Given the description of an element on the screen output the (x, y) to click on. 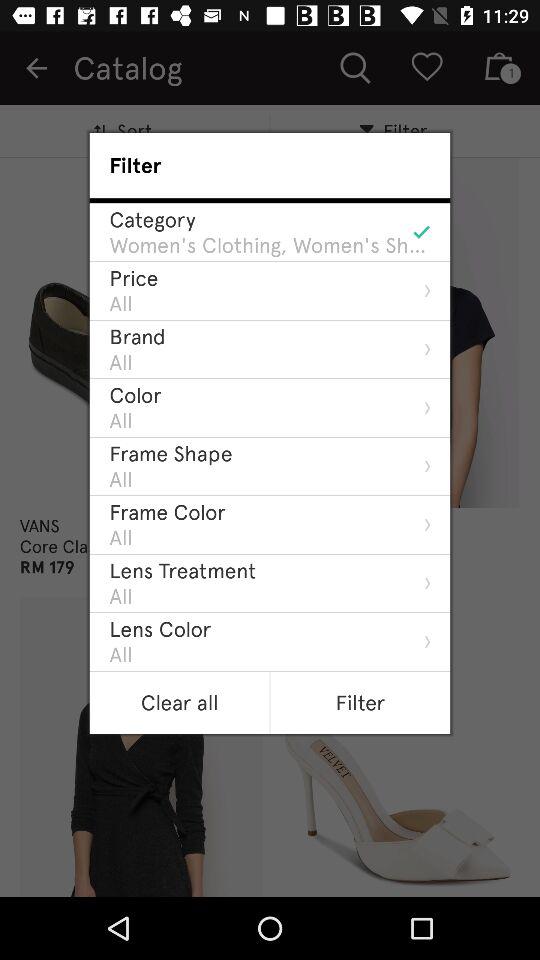
launch the icon above the all (160, 628)
